Given the description of an element on the screen output the (x, y) to click on. 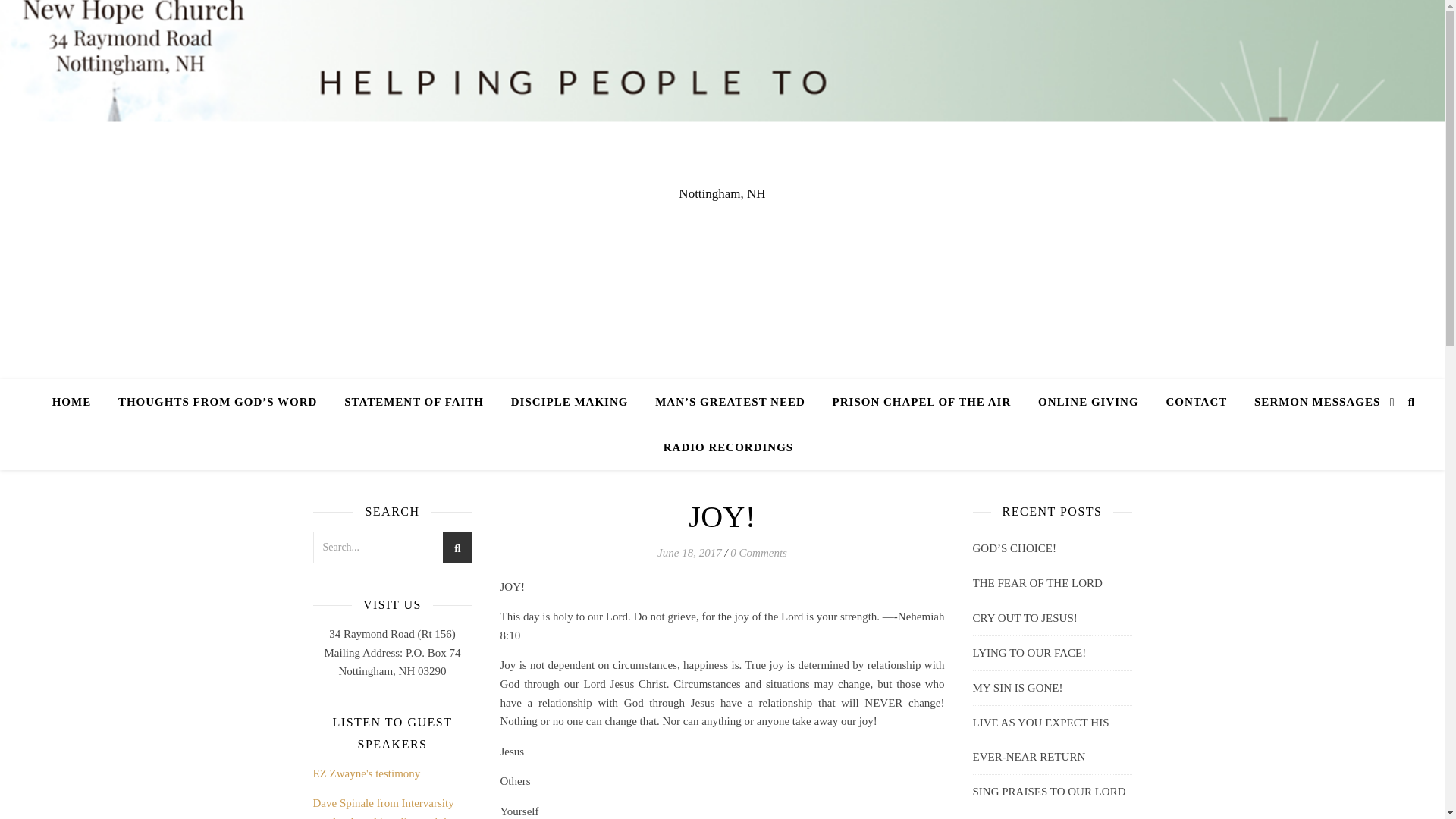
To show and know Jesus (729, 402)
CONTACT (1196, 402)
CRY OUT TO JESUS! (1024, 617)
RADIO RECORDINGS (721, 447)
HOME (77, 402)
DISCIPLE MAKING (569, 402)
ONLINE GIVING (1088, 402)
EZ Zwayne's testimony (366, 773)
PRISON CHAPEL OF THE AIR (922, 402)
